Given the description of an element on the screen output the (x, y) to click on. 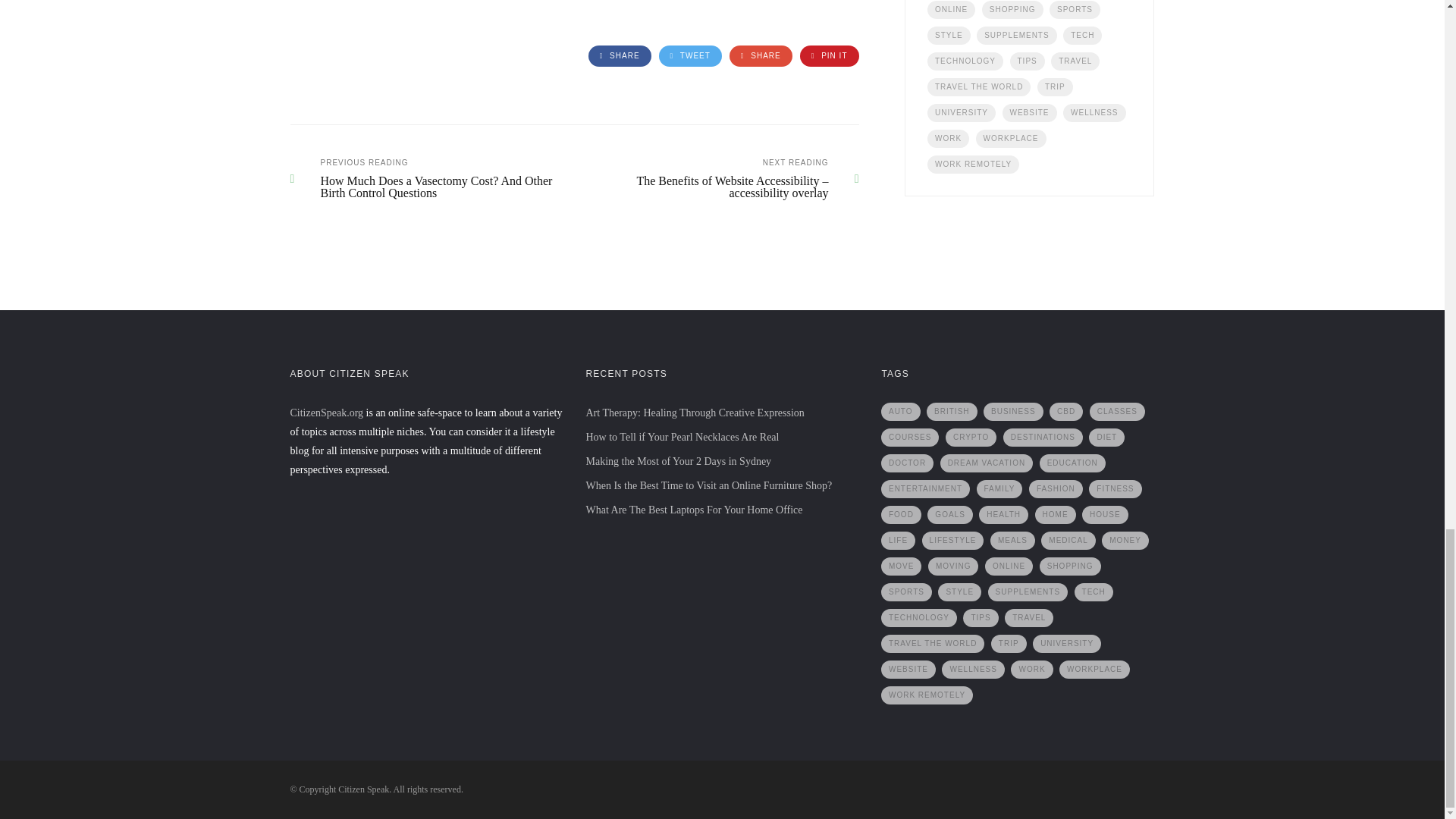
SHARE (619, 55)
PIN IT (829, 55)
Google Plus (760, 55)
SHARE (760, 55)
Twitter (690, 55)
TWEET (690, 55)
Facebook (619, 55)
Pinterest (829, 55)
